Given the description of an element on the screen output the (x, y) to click on. 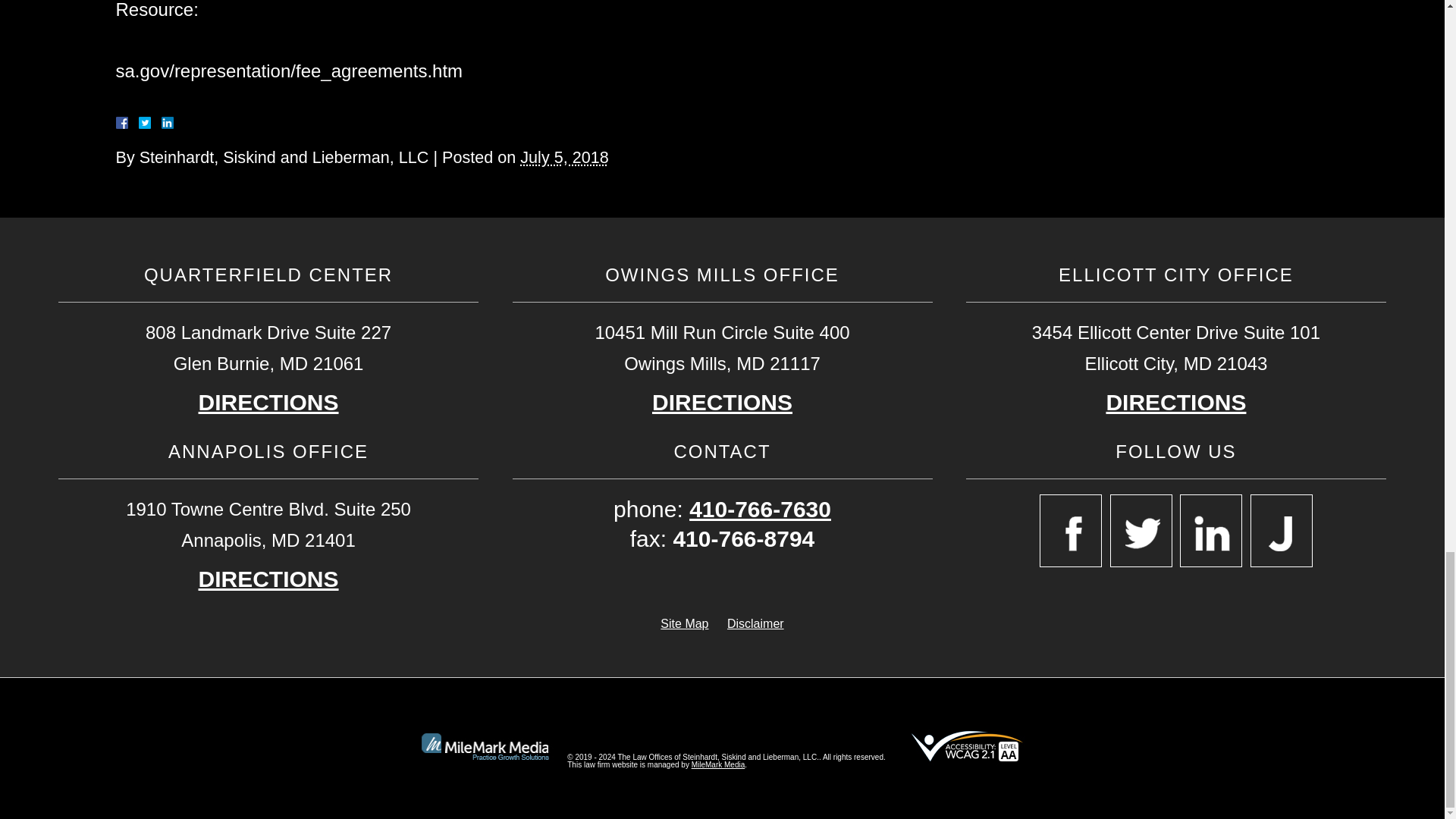
Twitter (149, 122)
Open Google Map In New Window (1175, 401)
Open Google Map In New Window (268, 578)
Open Google Map In New Window (268, 401)
LinkedIn (160, 122)
Facebook (139, 122)
2018-07-05T03:00:59-0700 (563, 157)
Open Google Map In New Window (722, 401)
